Given the description of an element on the screen output the (x, y) to click on. 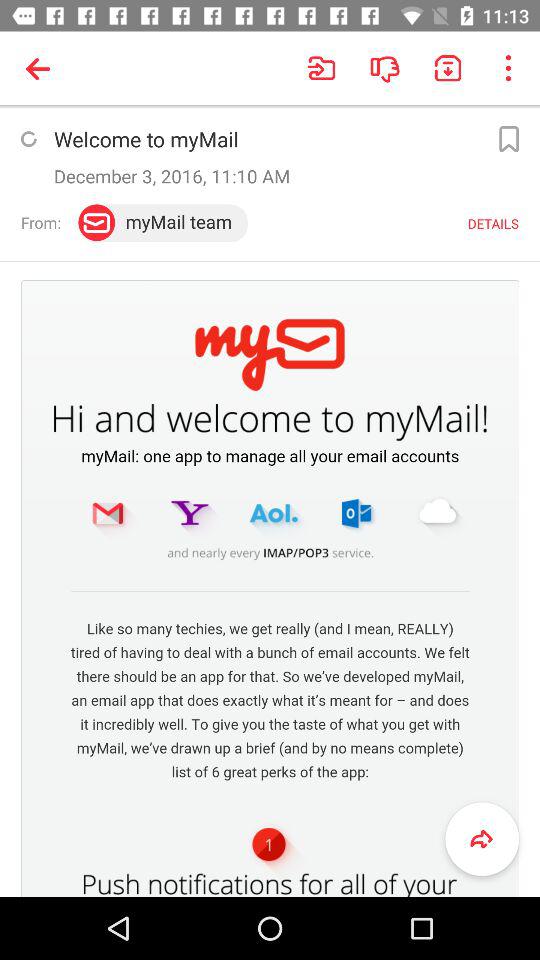
go back (482, 839)
